Given the description of an element on the screen output the (x, y) to click on. 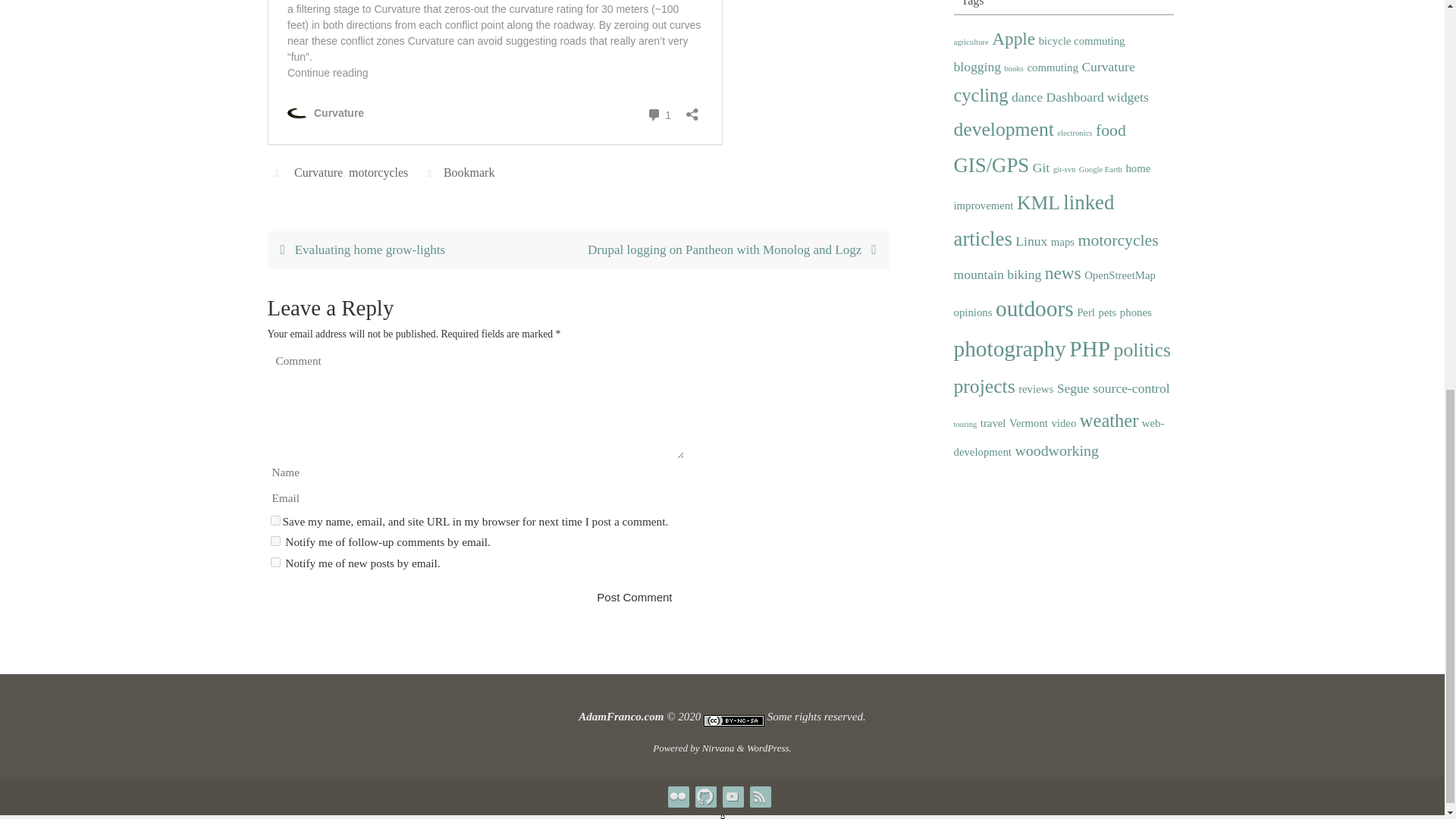
motorcycles (378, 172)
Curvature (318, 172)
Evaluating home grow-lights (422, 250)
bicycle commuting (1082, 41)
subscribe (274, 541)
agriculture (970, 41)
Apple (1013, 38)
Tagged (278, 172)
Permalink to Curvature feature updates (469, 172)
Post Comment (634, 596)
books (1013, 68)
Drupal logging on Pantheon with Monolog and Logz (733, 250)
commuting (1051, 67)
 Bookmark the permalink (431, 172)
Post Comment (634, 596)
